Given the description of an element on the screen output the (x, y) to click on. 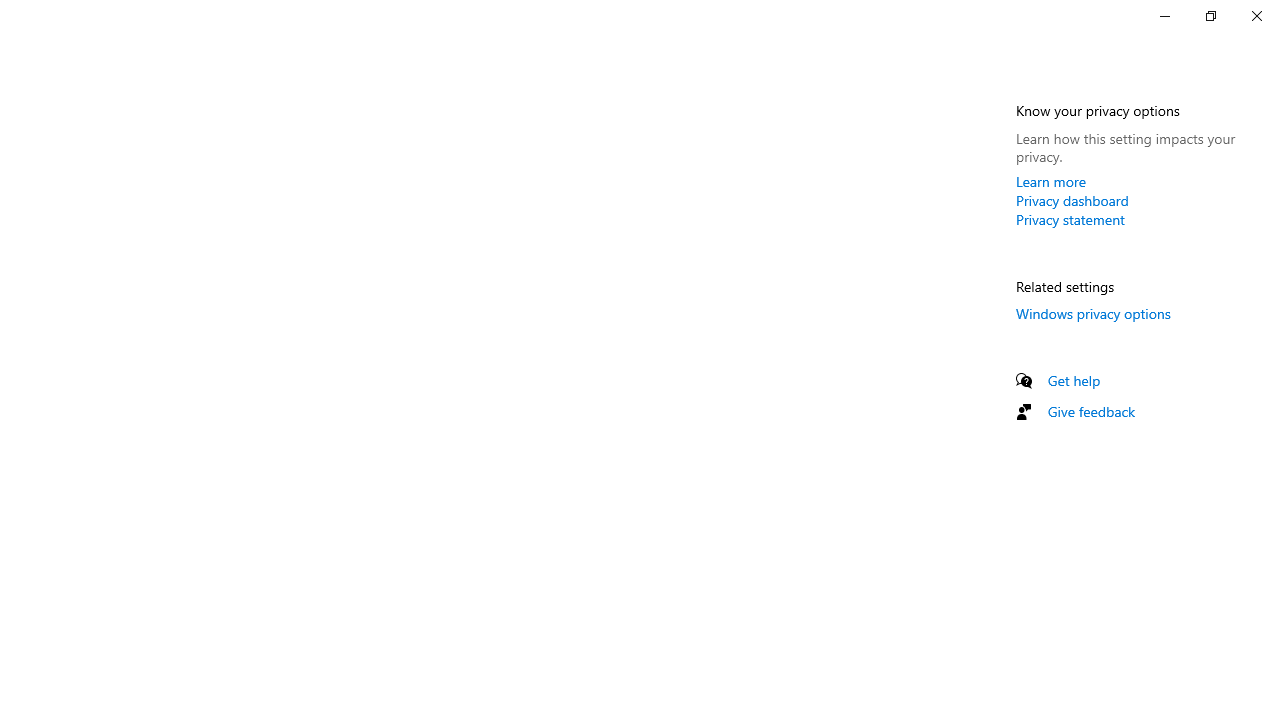
Privacy statement (1070, 219)
Close Settings (1256, 15)
Minimize Settings (1164, 15)
Restore Settings (1210, 15)
Get help (1074, 380)
Privacy dashboard (1072, 200)
Windows privacy options (1093, 313)
Learn more (1051, 181)
Give feedback (1091, 411)
